Given the description of an element on the screen output the (x, y) to click on. 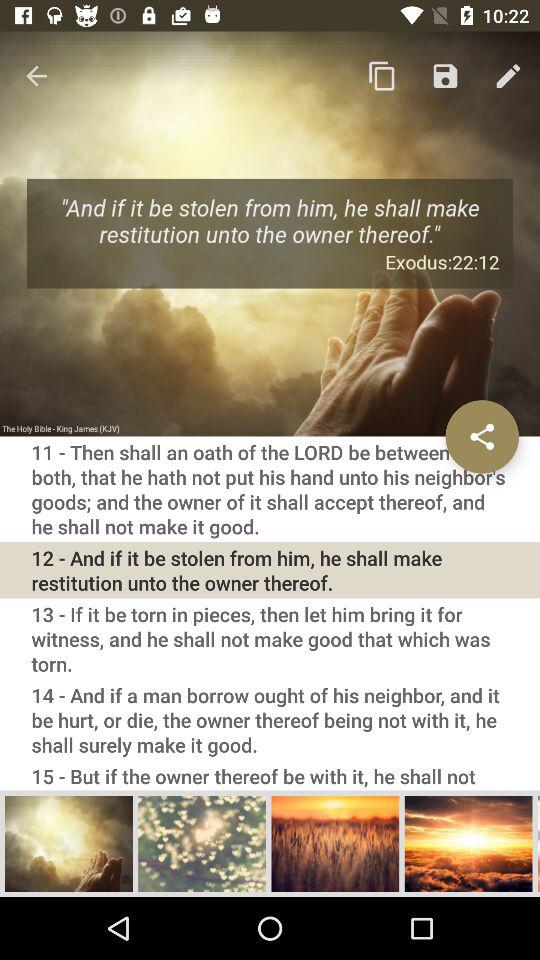
peace of mind (202, 843)
